Given the description of an element on the screen output the (x, y) to click on. 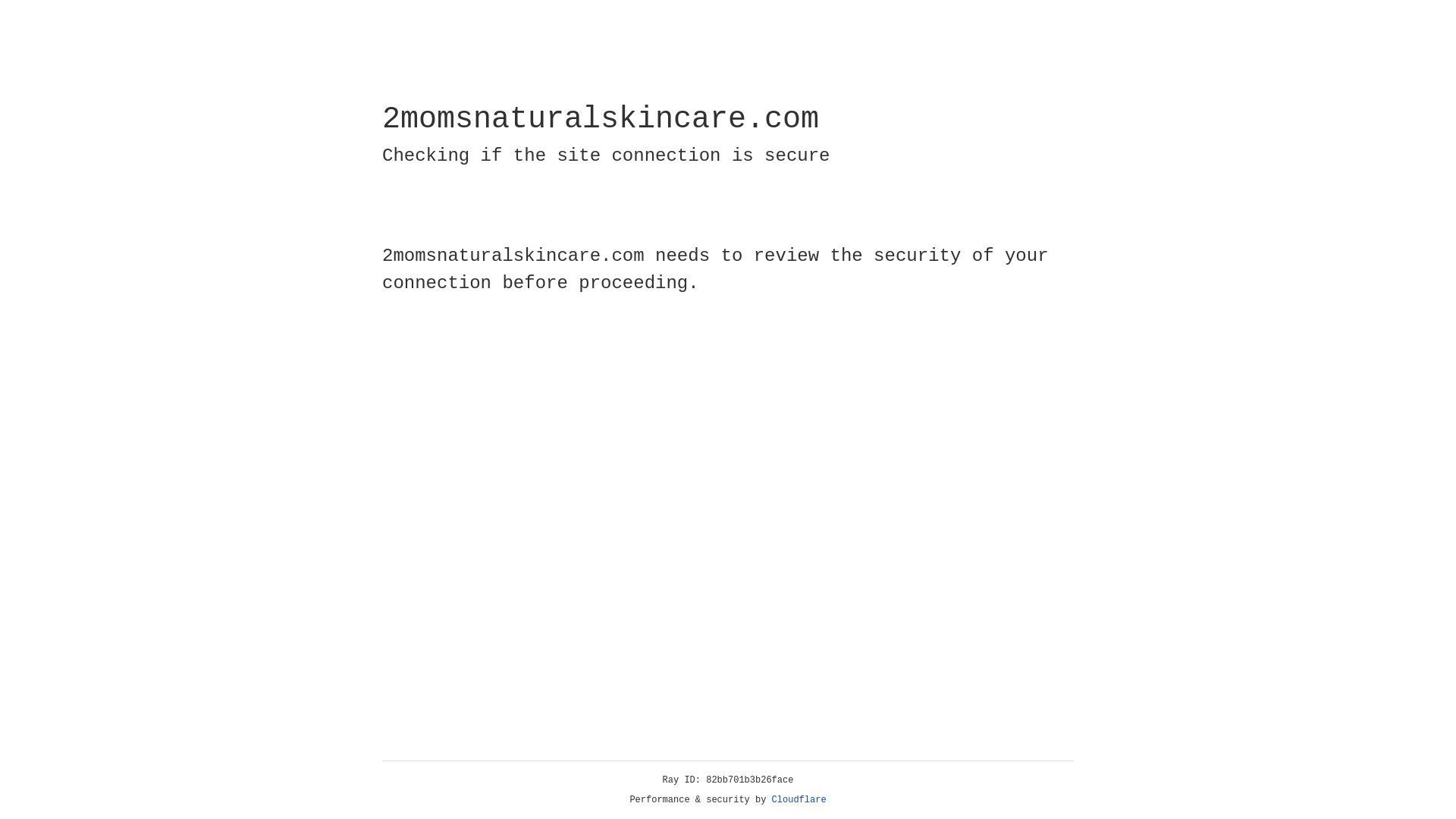
Cloudflare Element type: text (798, 799)
